Given the description of an element on the screen output the (x, y) to click on. 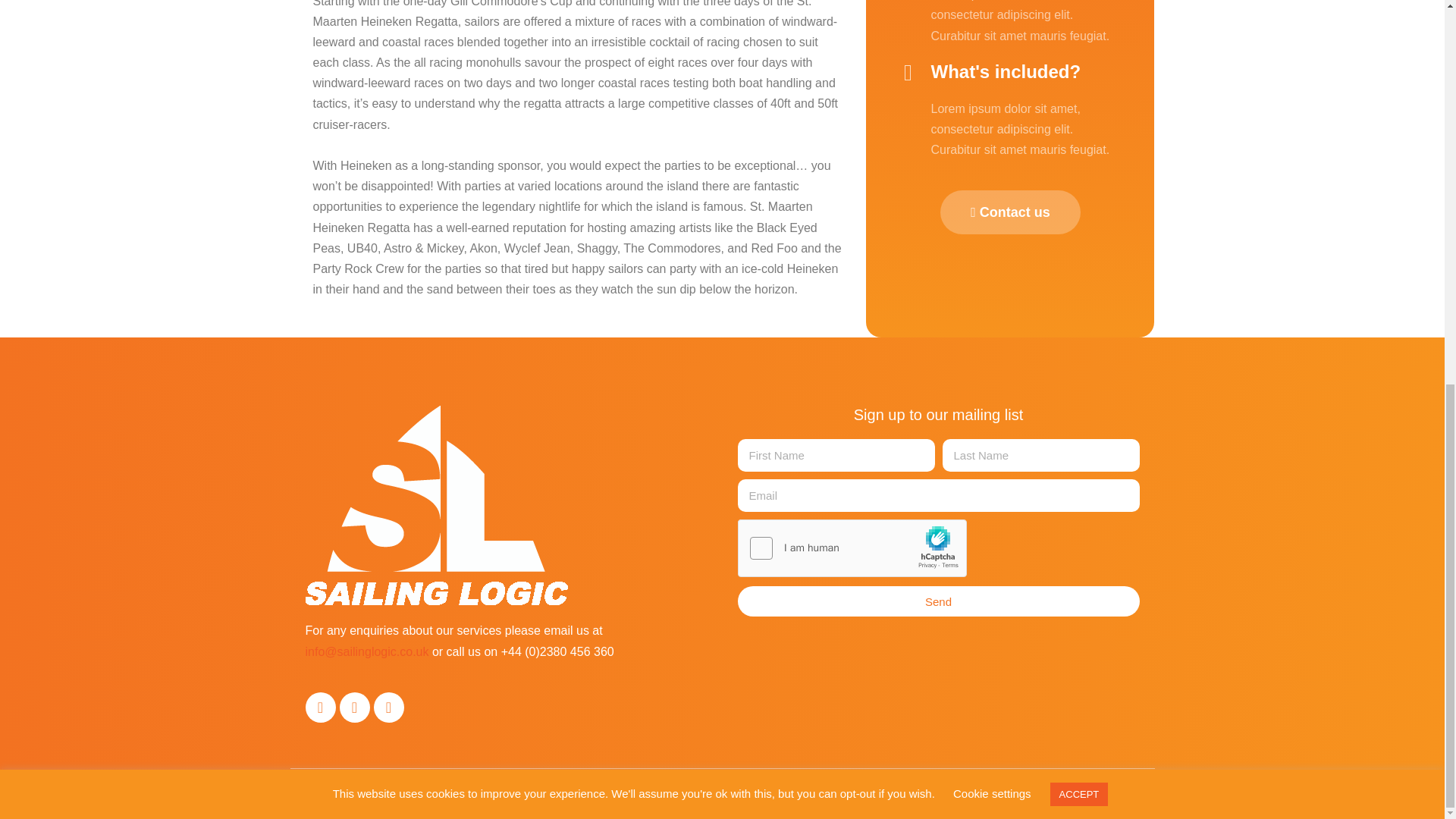
Widget containing checkbox for hCaptcha security challenge (851, 548)
Sailing Logic (435, 505)
